Given the description of an element on the screen output the (x, y) to click on. 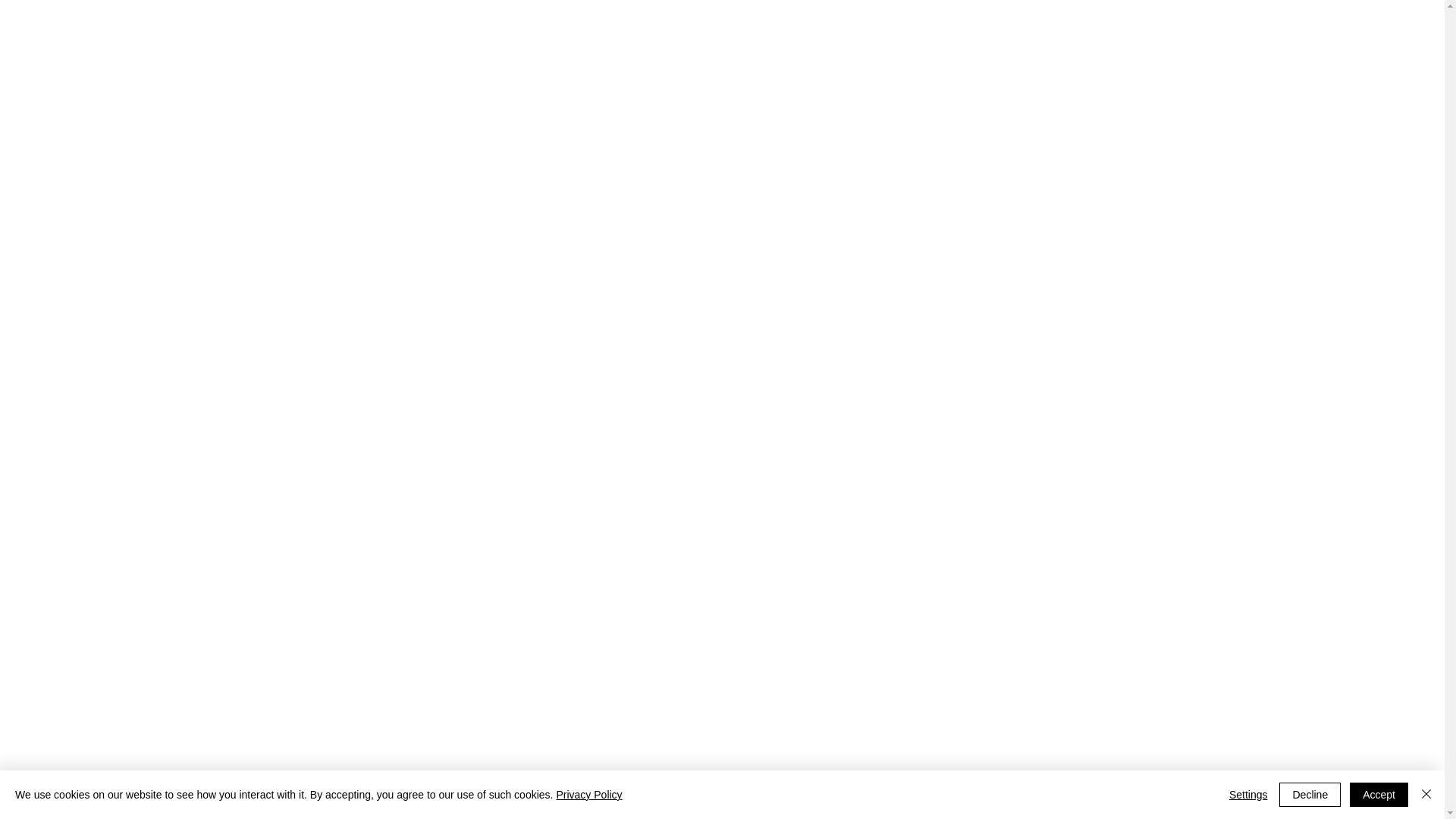
Decline Element type: text (1309, 794)
Accept Element type: text (1378, 794)
Privacy Policy Element type: text (588, 794)
